Given the description of an element on the screen output the (x, y) to click on. 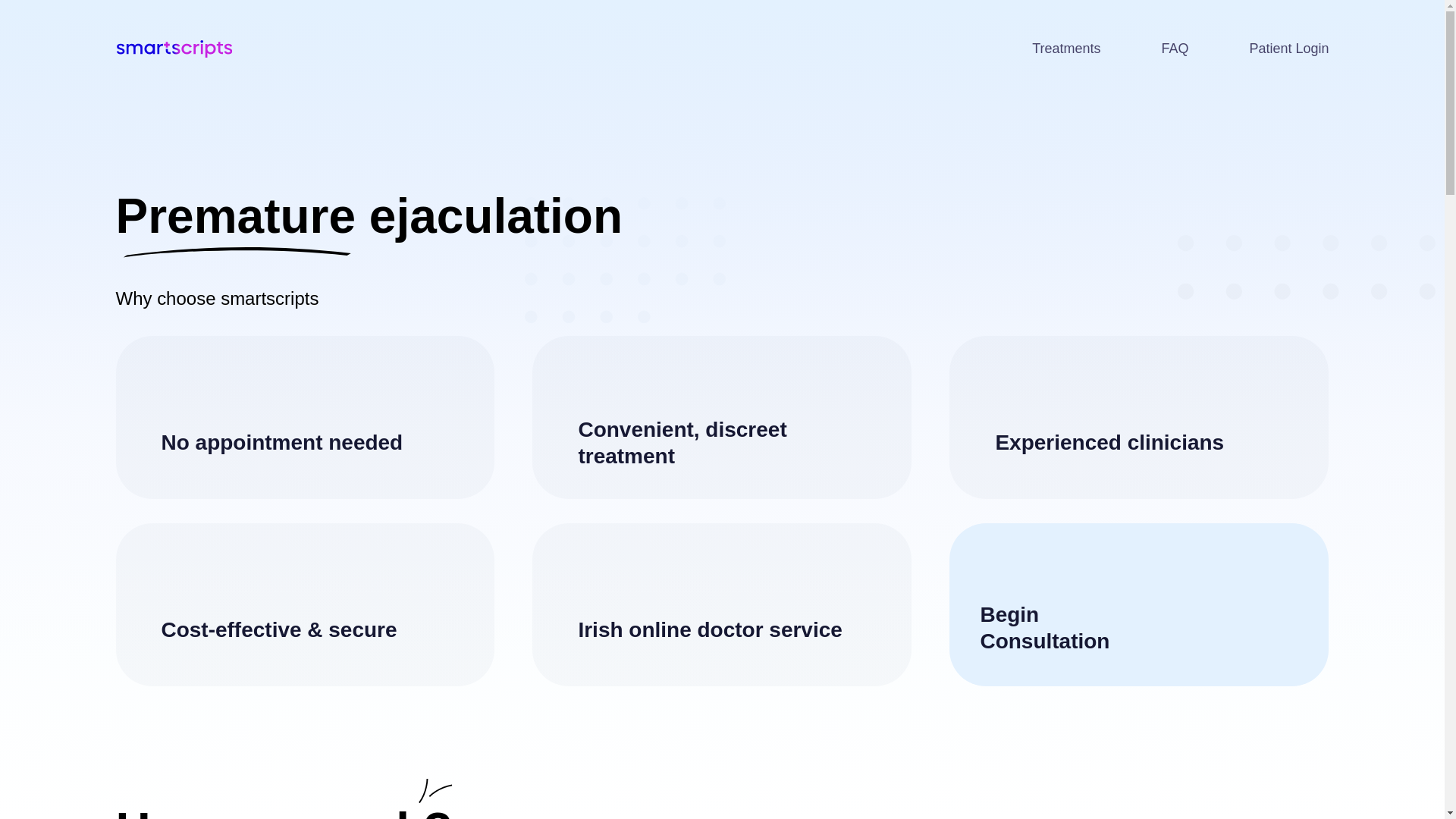
Patient Login (1288, 48)
Treatments (1066, 48)
FAQ (1175, 48)
Begin Consultation (1138, 604)
